Given the description of an element on the screen output the (x, y) to click on. 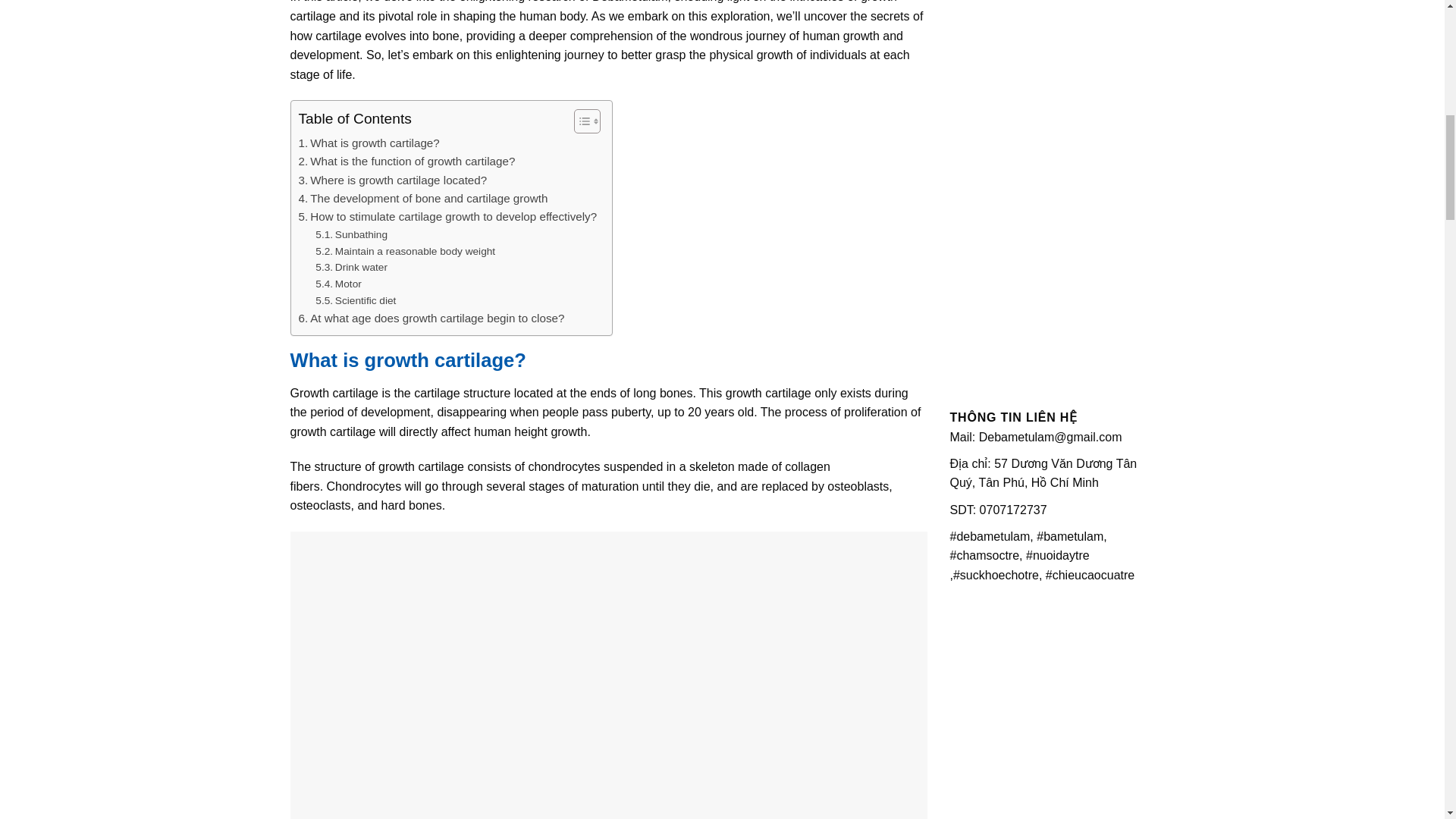
Drink water (351, 267)
Motor (338, 284)
What is growth cartilage? (368, 143)
Scientific diet (355, 300)
Maintain a reasonable body weight (405, 251)
Motor (338, 284)
The development of bone and cartilage growth (423, 198)
At what age does growth cartilage begin to close? (431, 318)
Where is growth cartilage located? (392, 180)
Where is growth cartilage located? (392, 180)
What is the function of growth cartilage? (406, 161)
What is the function of growth cartilage? (406, 161)
How to stimulate cartilage growth to develop effectively? (447, 217)
Sunbathing (351, 234)
Sunbathing (351, 234)
